Given the description of an element on the screen output the (x, y) to click on. 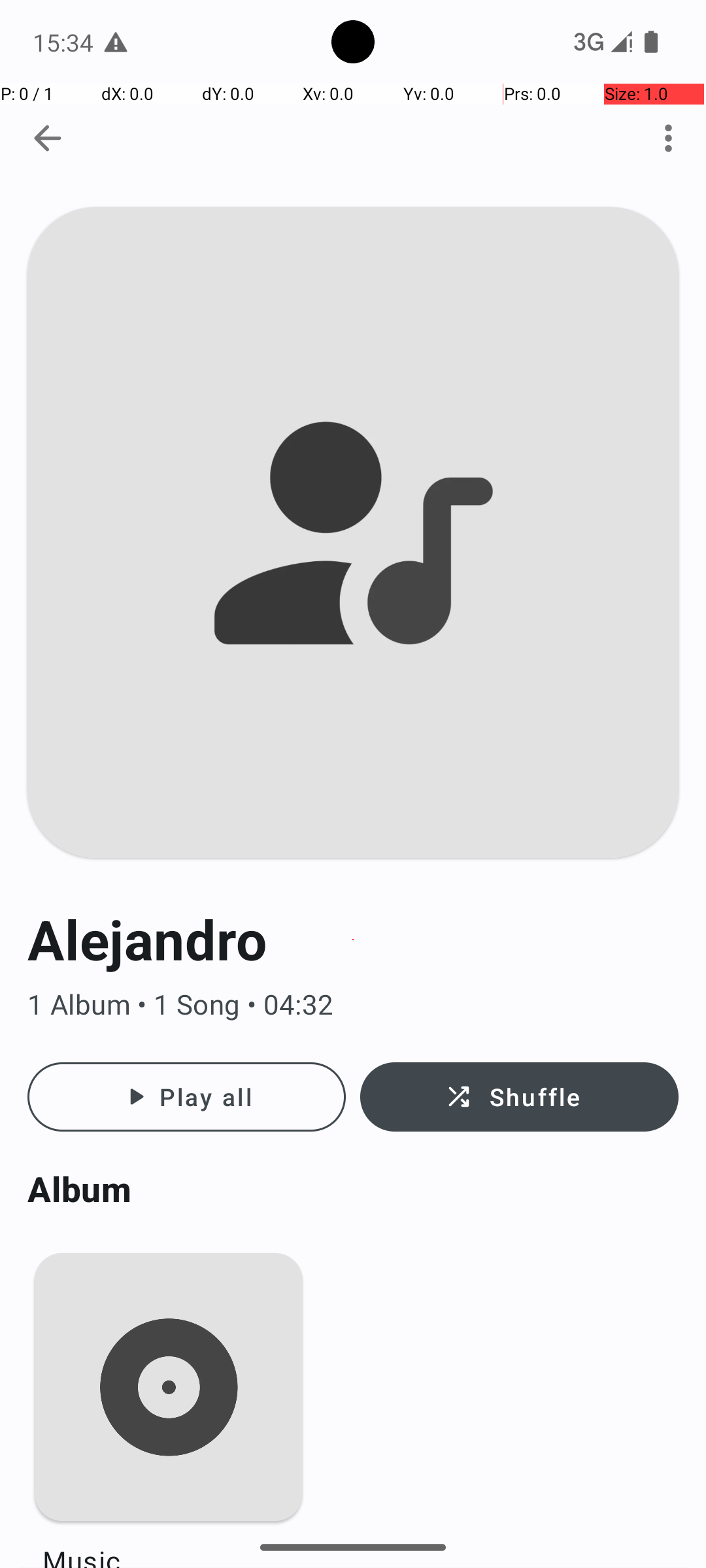
Alejandro Element type: android.widget.TextView (352, 939)
1 Album • 1 Song • 04:32 Element type: android.widget.TextView (352, 1004)
Play all Element type: android.widget.Button (186, 1096)
Album Element type: android.widget.TextView (353, 1188)
Music Element type: android.widget.TextView (168, 1544)
